Given the description of an element on the screen output the (x, y) to click on. 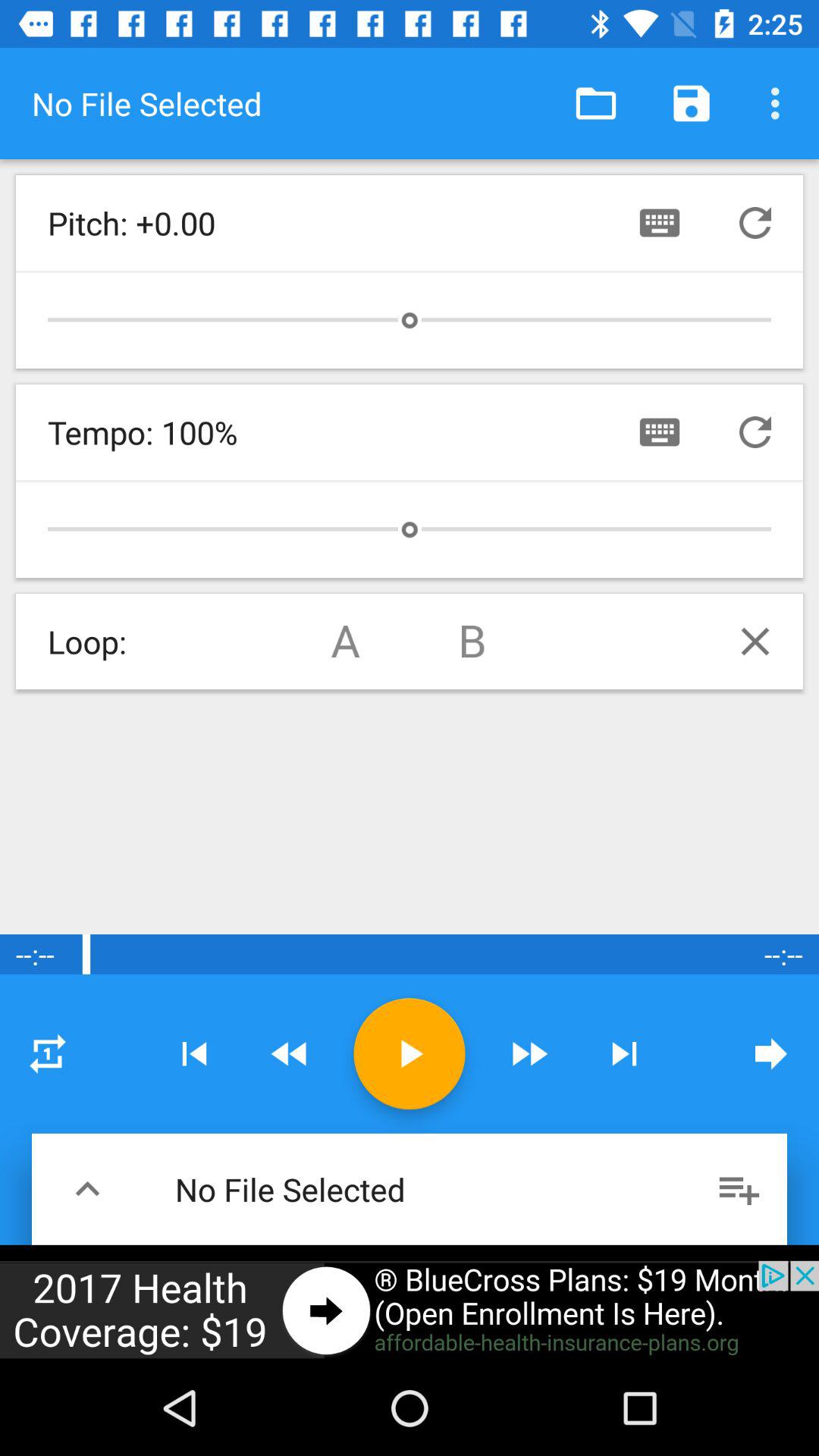
click to view advertisement (409, 1310)
